Given the description of an element on the screen output the (x, y) to click on. 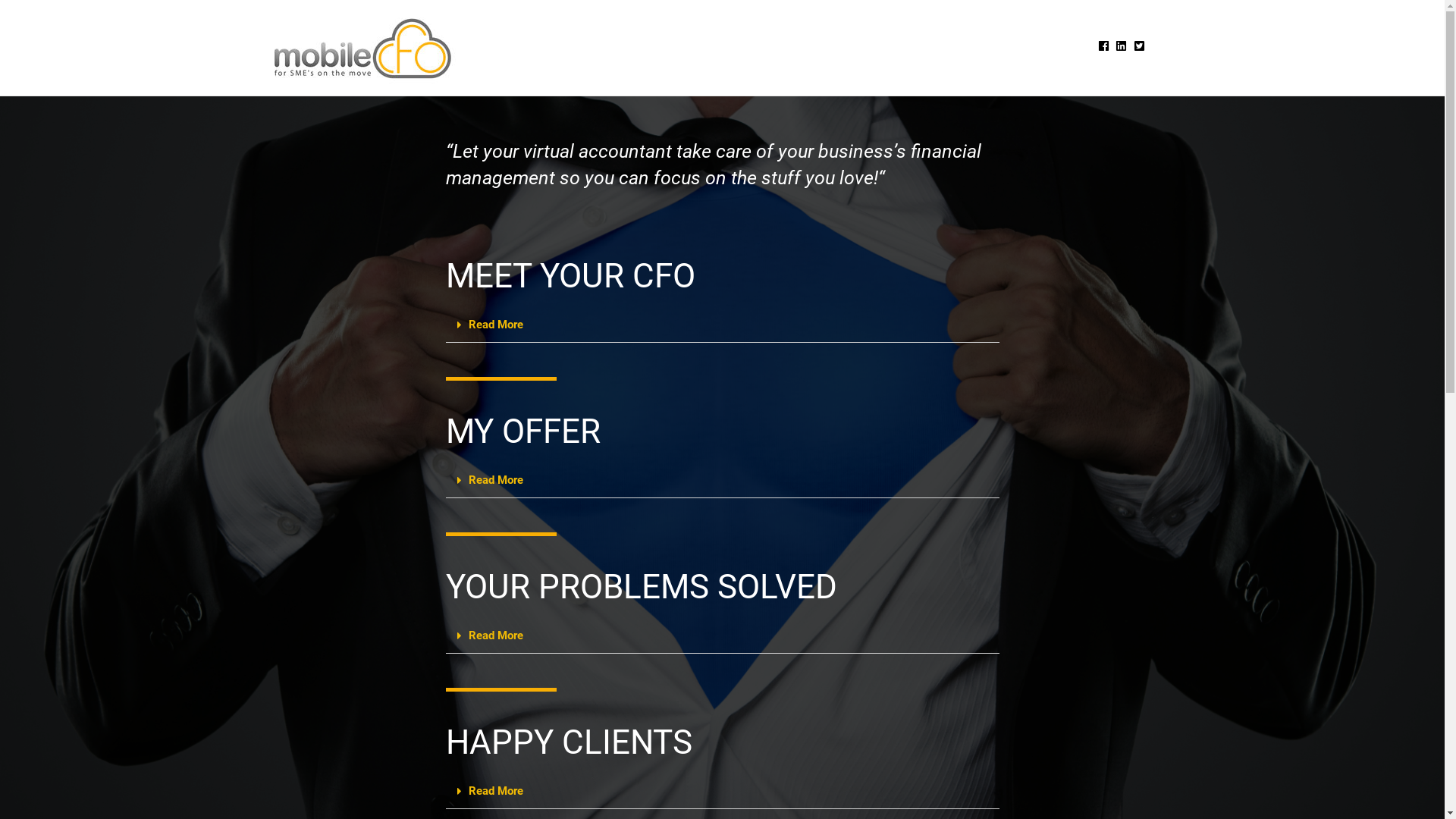
Read More Element type: text (495, 479)
Read More Element type: text (495, 635)
Read More Element type: text (495, 324)
Read More Element type: text (495, 790)
